Given the description of an element on the screen output the (x, y) to click on. 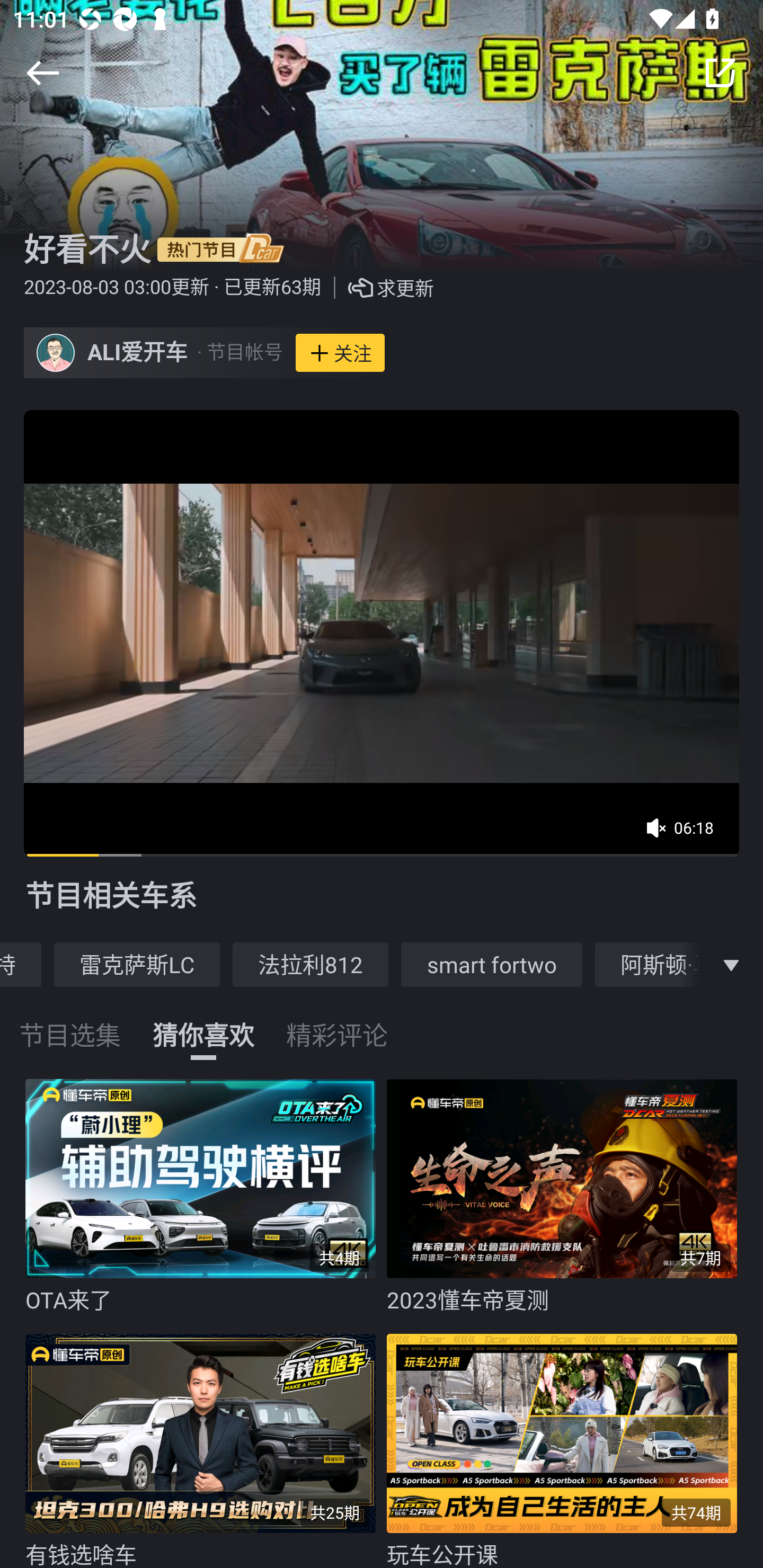
 (42, 72)
 (720, 72)
 求更新 (377, 287)
ALI爱开车 (137, 352)
· 节目帐号 (239, 352)
 关注 (340, 352)
06:19 (685, 834)
 (731, 963)
雷克萨斯LC (136, 964)
法拉利812 (310, 964)
smart fortwo (491, 964)
节目选集 (69, 1023)
猜你喜欢 (203, 1023)
精彩评论 (336, 1023)
共4期 OTA来了 (205, 1196)
共7期 2023懂车帝夏测 (567, 1196)
共25期 有钱选啥车 (205, 1446)
共74期 玩车公开课 (567, 1446)
